Given the description of an element on the screen output the (x, y) to click on. 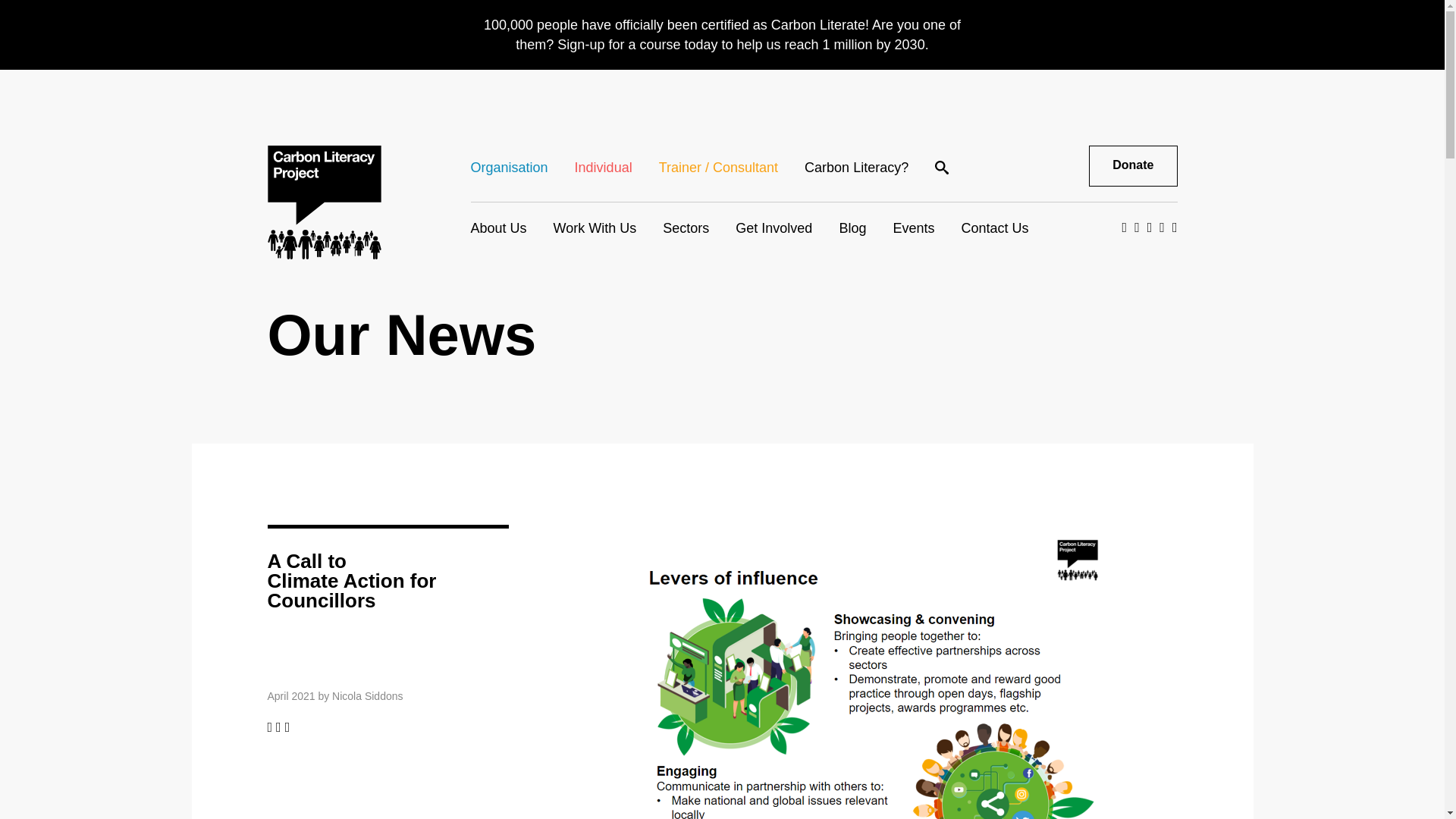
Facebook (269, 726)
Sectors (685, 227)
Contact Us (993, 227)
Individual (603, 167)
Work With Us (595, 227)
Donate (1132, 165)
Carbon Literacy? (856, 167)
Events (913, 227)
Organisation (509, 167)
Get Involved (773, 227)
Blog (852, 227)
About Us (498, 227)
'Twitter (278, 726)
LinkedIn (287, 726)
